Given the description of an element on the screen output the (x, y) to click on. 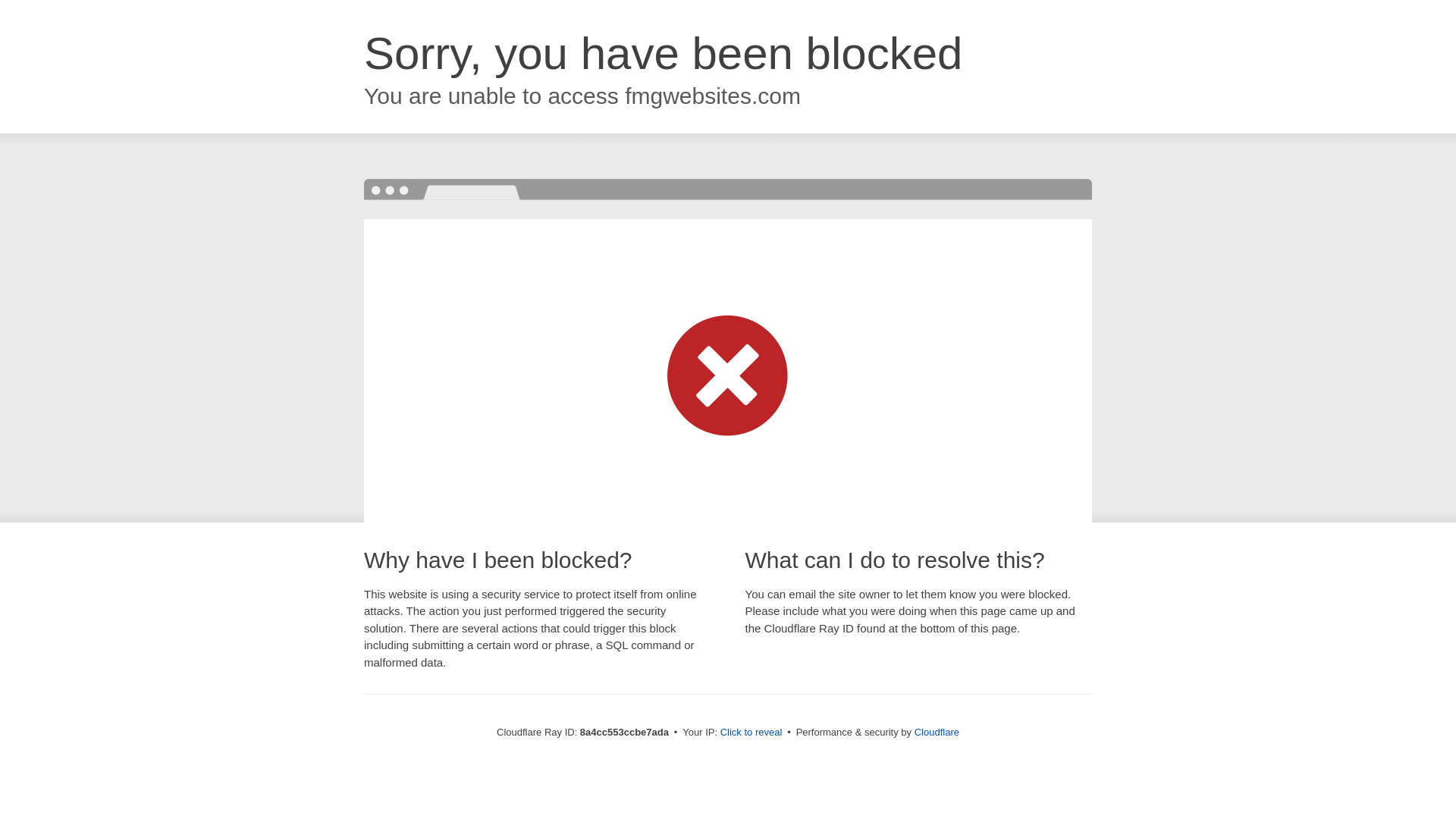
Click to reveal (751, 732)
Cloudflare (936, 731)
